Given the description of an element on the screen output the (x, y) to click on. 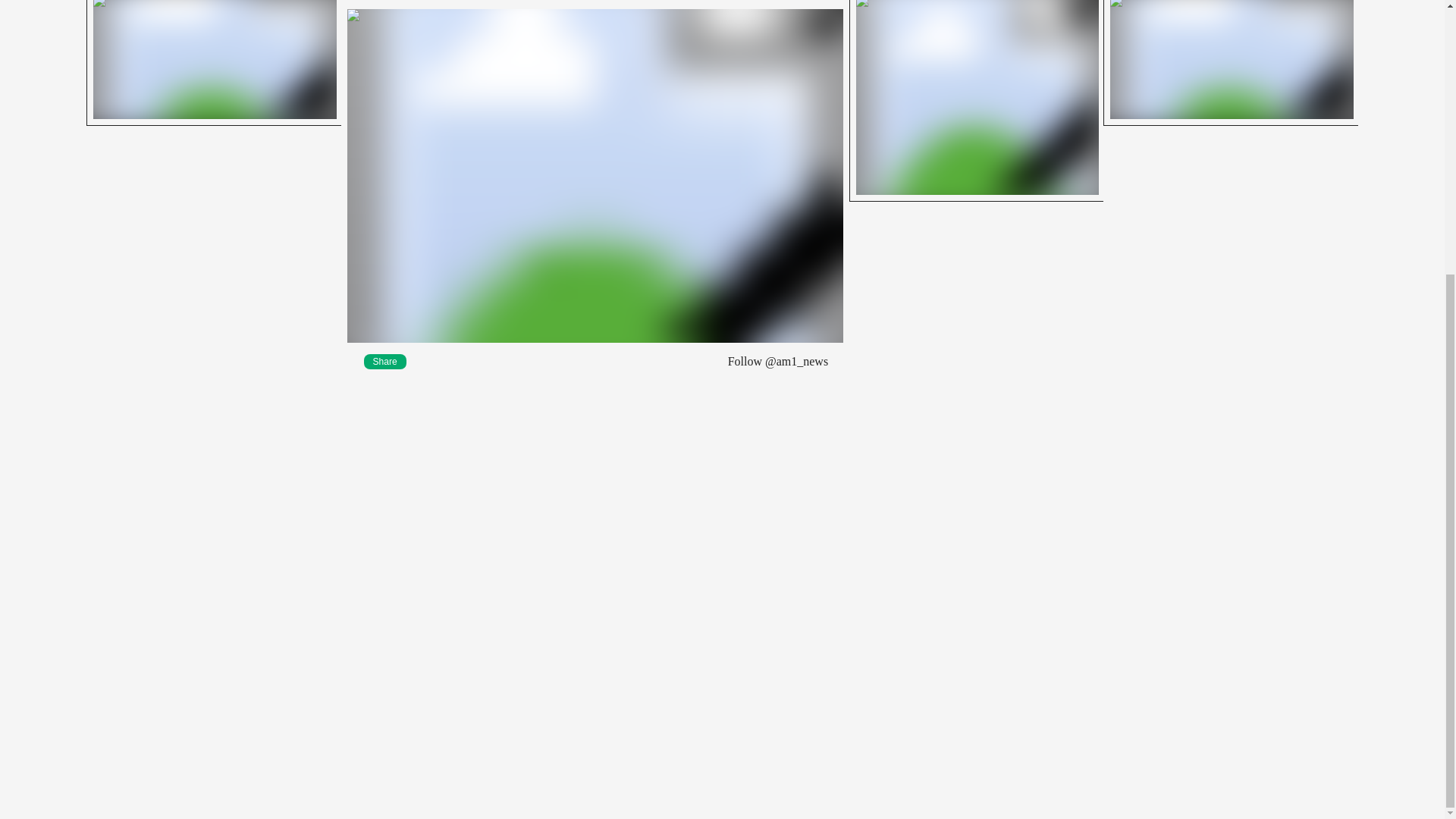
Share (212, 63)
